Given the description of an element on the screen output the (x, y) to click on. 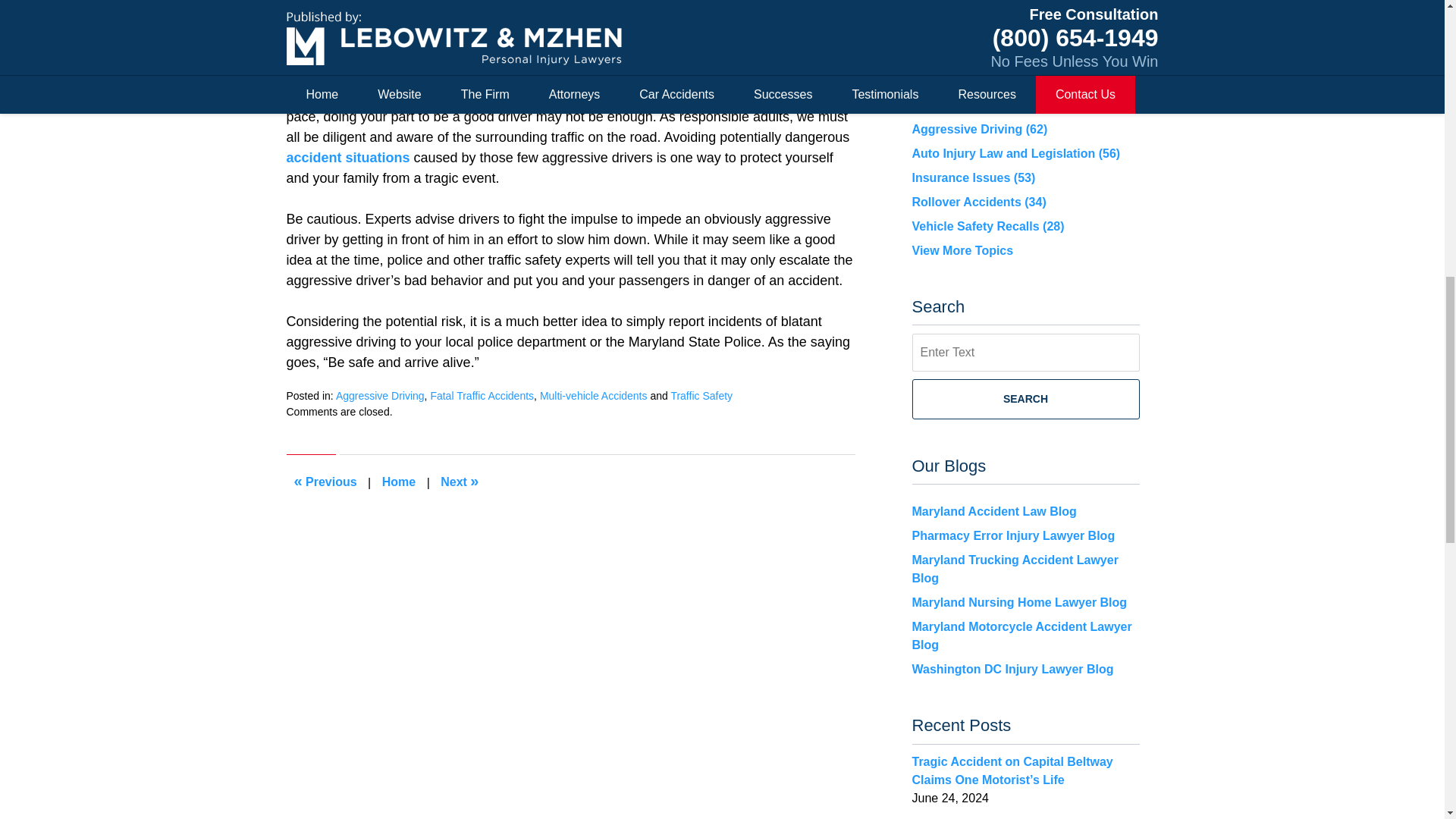
accident situations (348, 157)
View all posts in Traffic Safety (700, 395)
Traffic Safety (700, 395)
Multi-vehicle Accidents (593, 395)
View all posts in Multi-vehicle Accidents (593, 395)
View all posts in Aggressive Driving (380, 395)
deadly car crashes (563, 24)
Aggressive Driving (380, 395)
View all posts in Fatal Traffic Accidents (481, 395)
Fatal Traffic Accidents (481, 395)
